Given the description of an element on the screen output the (x, y) to click on. 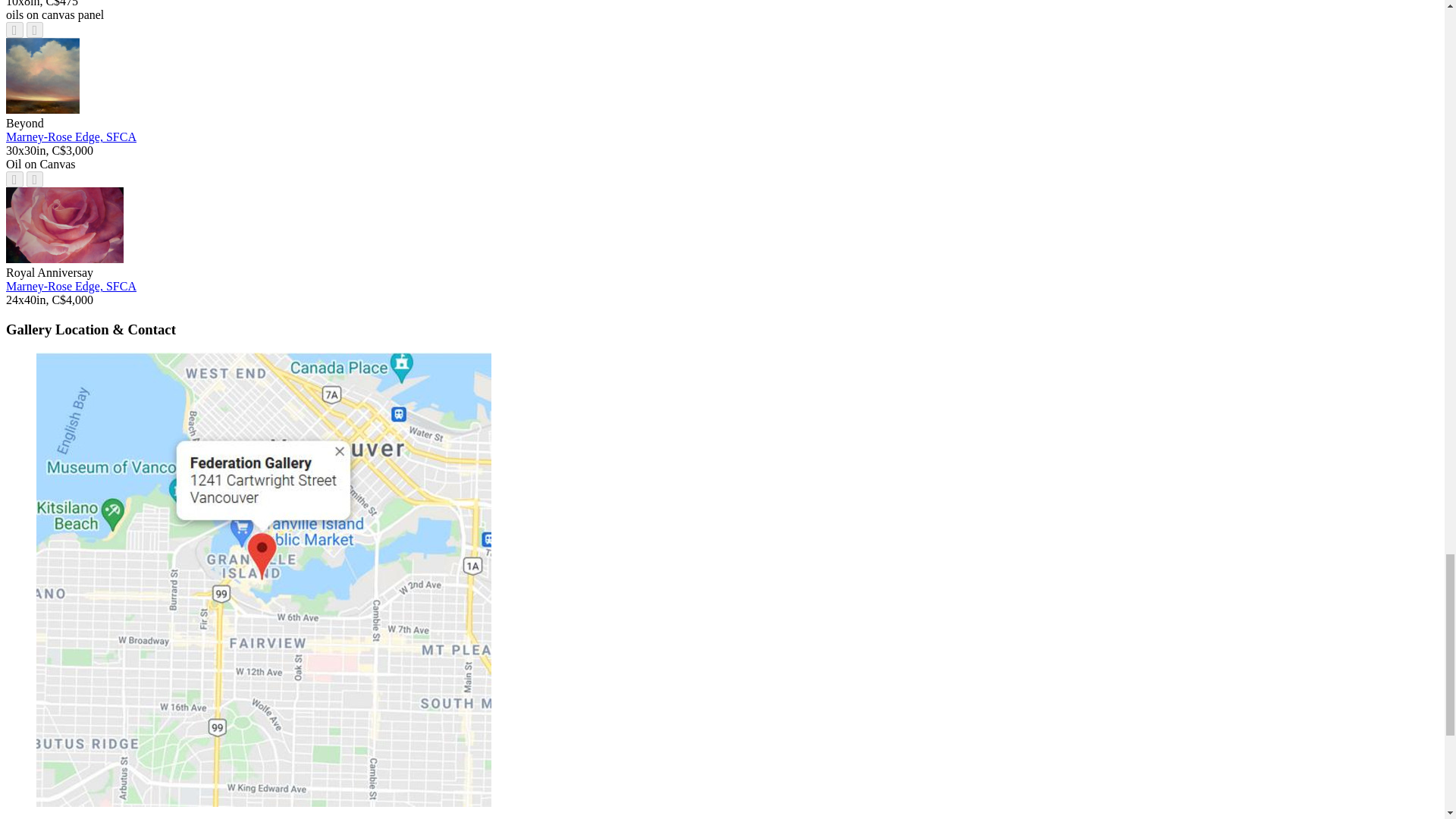
Marney-Rose Edge, SFCA (70, 286)
Marney-Rose Edge, SFCA (70, 136)
